Given the description of an element on the screen output the (x, y) to click on. 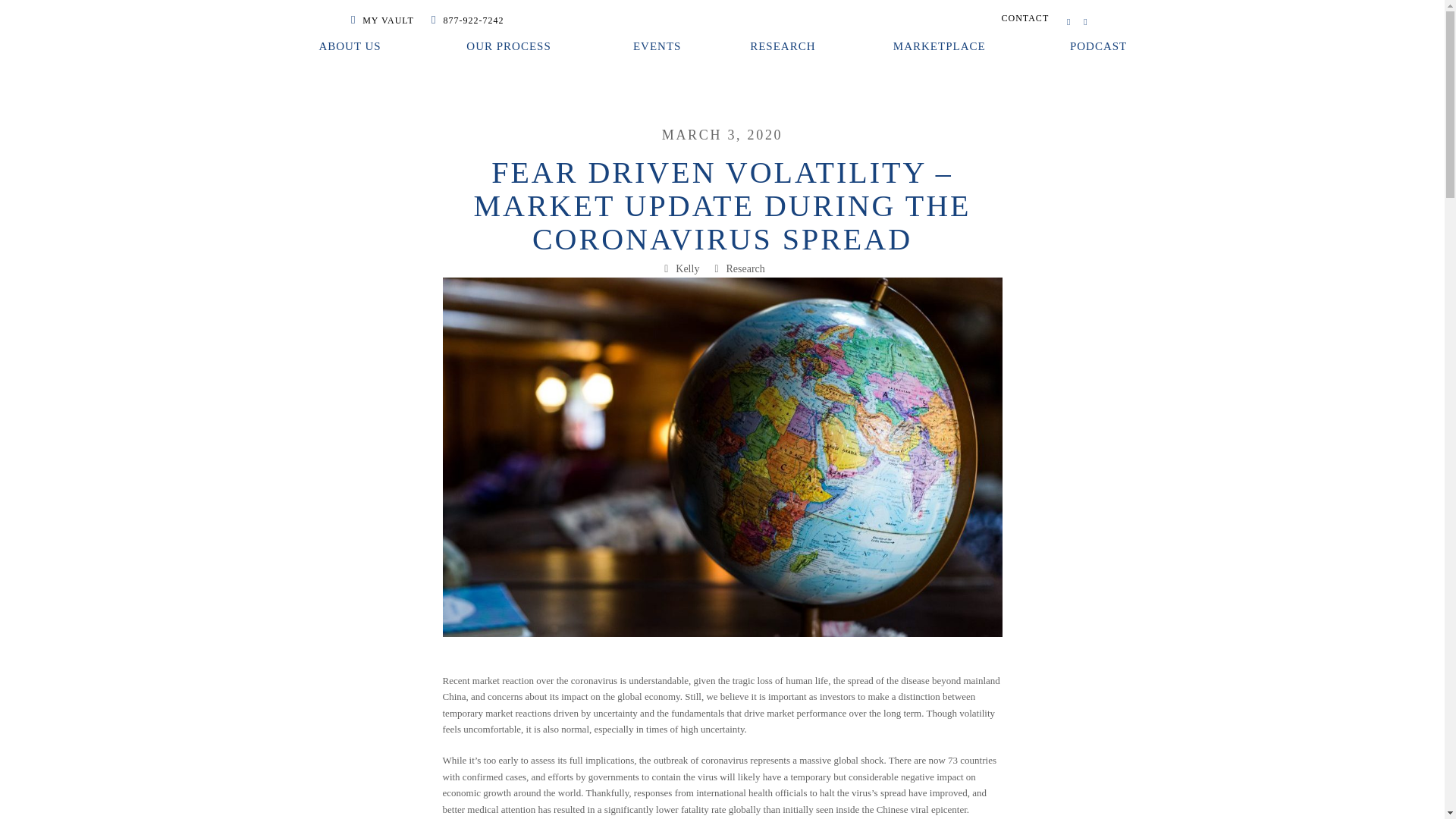
CONTACT (1024, 18)
MY VAULT (381, 20)
Research (745, 268)
Kelly (686, 268)
877-922-7242 (466, 20)
Linkedin (1085, 21)
OUR PROCESS (509, 46)
MARKETPLACE (942, 46)
EVENTS (656, 46)
Facebook (1068, 21)
ABOUT US (350, 46)
RESEARCH (785, 46)
PODCAST (1098, 46)
